Given the description of an element on the screen output the (x, y) to click on. 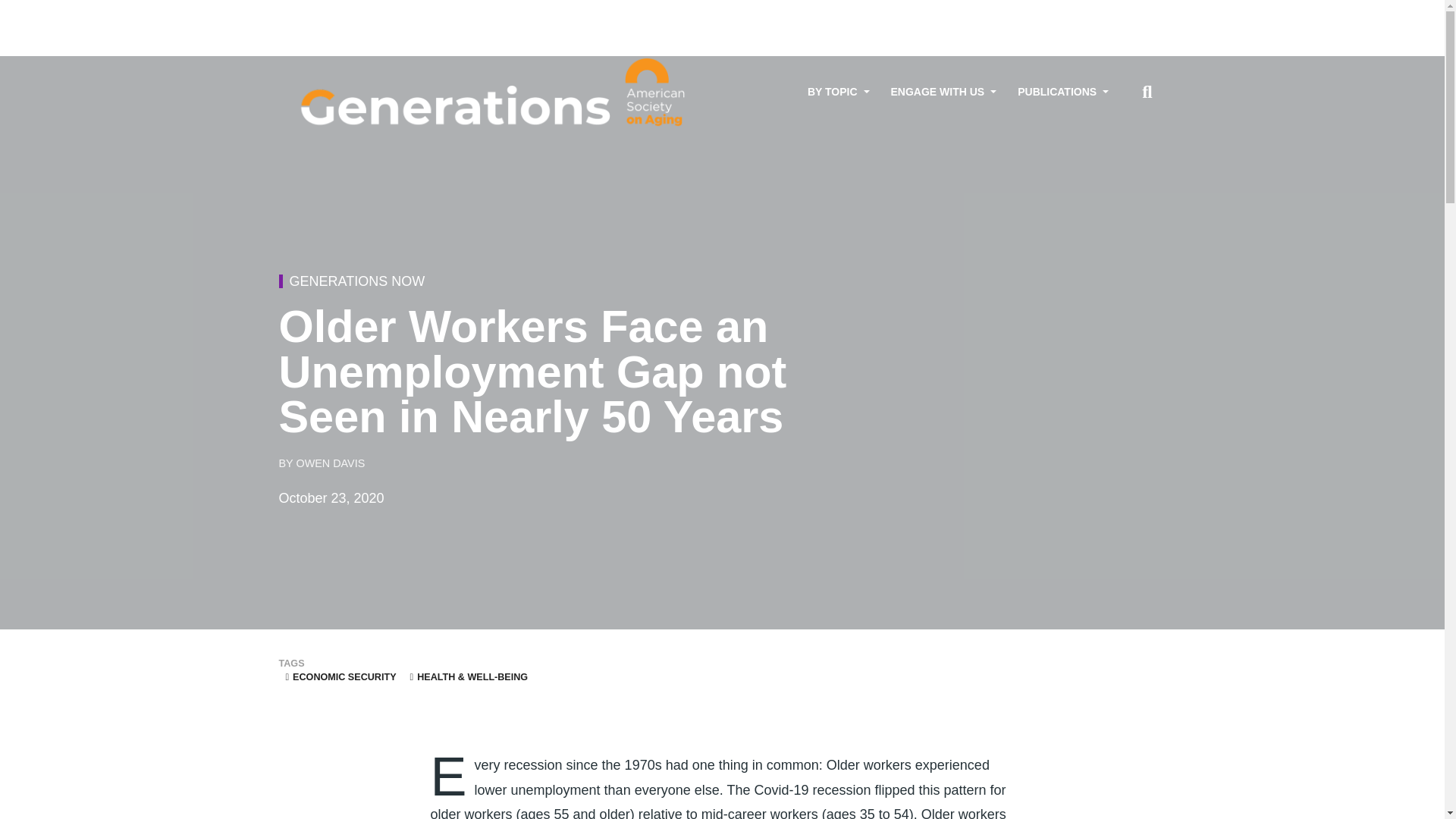
Join ASA (1096, 13)
Learn more, get involved, listen to our podcasts (943, 92)
PUBLICATIONS (1063, 92)
Login (1142, 13)
Login (1142, 13)
ENGAGE WITH US (943, 92)
Home (495, 91)
